Given the description of an element on the screen output the (x, y) to click on. 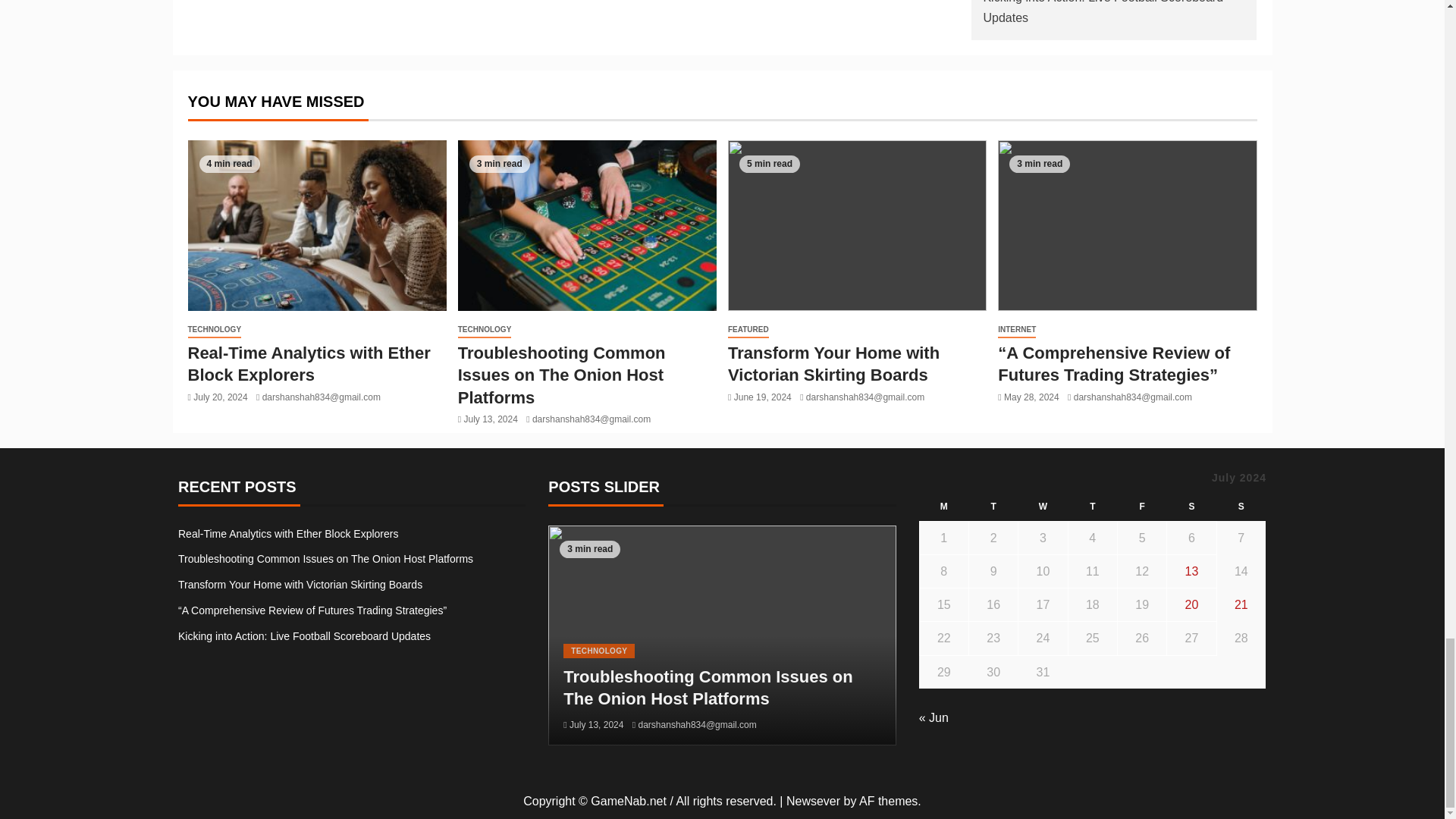
Thursday (1091, 506)
Sunday (1240, 506)
Saturday (1191, 506)
Tuesday (992, 506)
Wednesday (1042, 506)
Friday (1141, 506)
Monday (943, 506)
